Given the description of an element on the screen output the (x, y) to click on. 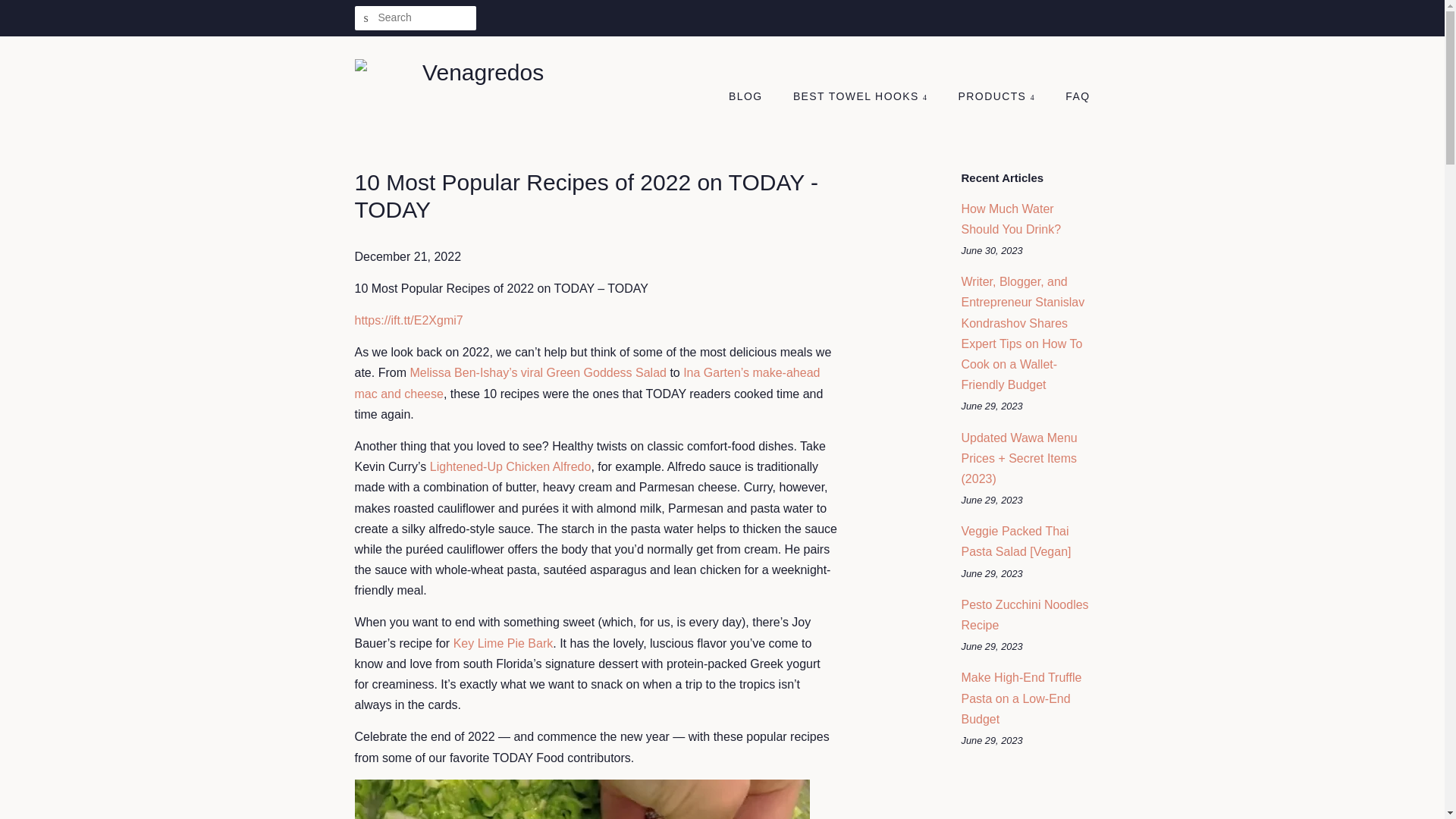
BLOG (753, 96)
FAQ (1071, 96)
Lightened-Up Chicken Alfredo (510, 466)
PRODUCTS (998, 96)
BEST TOWEL HOOKS (861, 96)
Key Lime Pie Bark (502, 643)
SEARCH (366, 18)
